Given the description of an element on the screen output the (x, y) to click on. 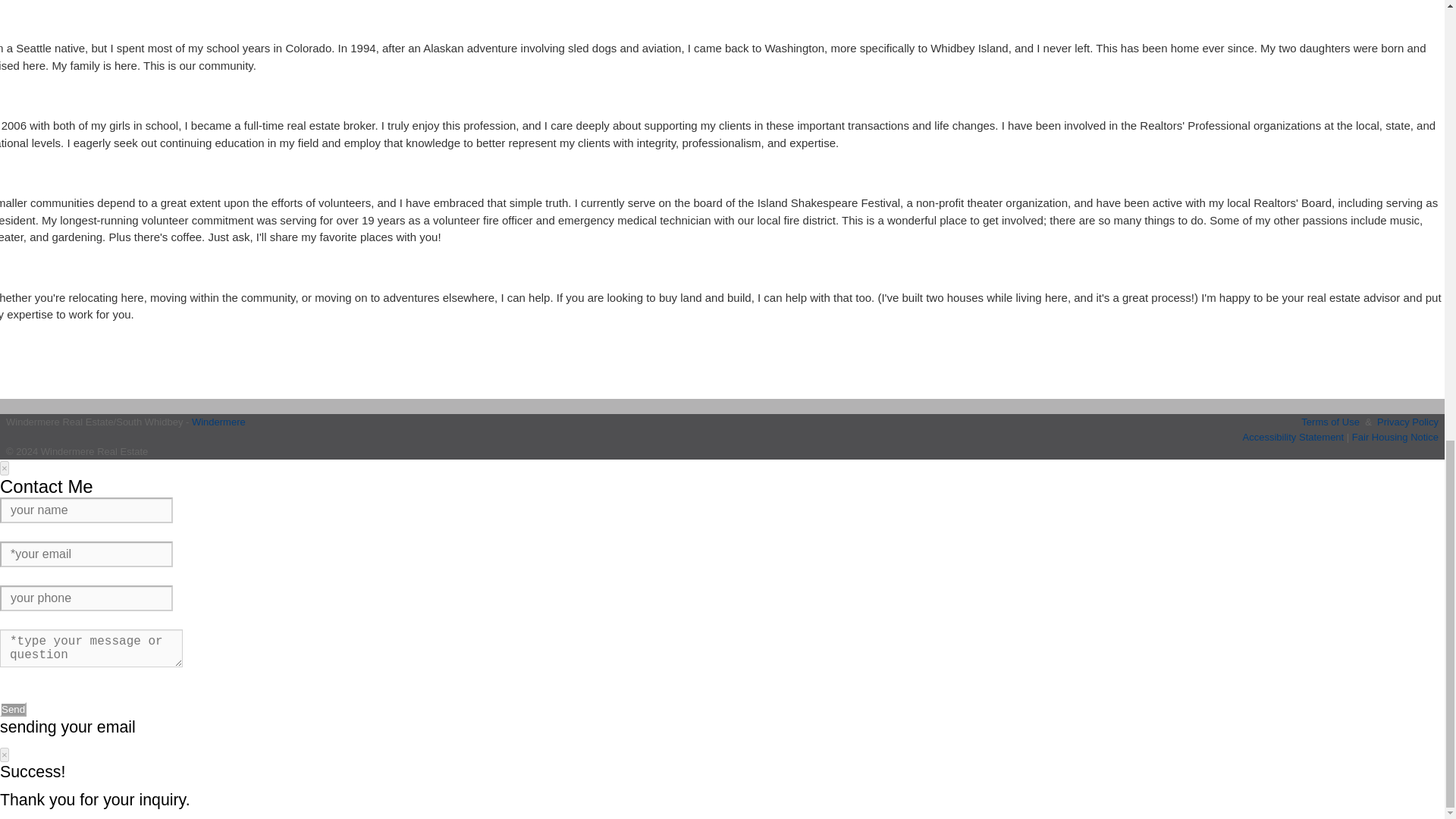
Privacy Policy (1407, 421)
Terms of Use (1330, 421)
Fair Housing Notice (1395, 436)
Windermere (219, 421)
Accessibility Statement (1293, 436)
Send (13, 708)
